Given the description of an element on the screen output the (x, y) to click on. 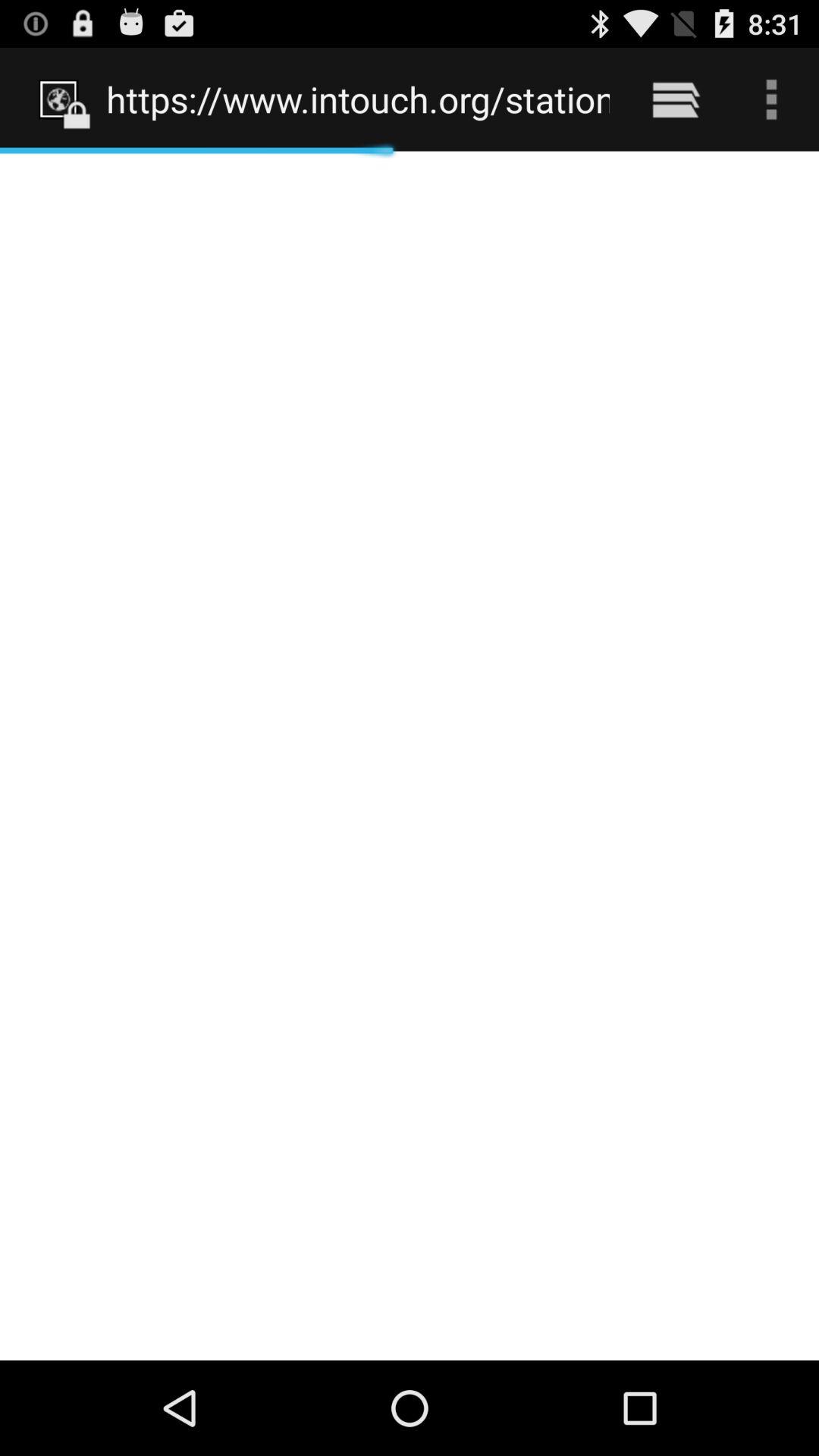
jump to the https www intouch (357, 99)
